Given the description of an element on the screen output the (x, y) to click on. 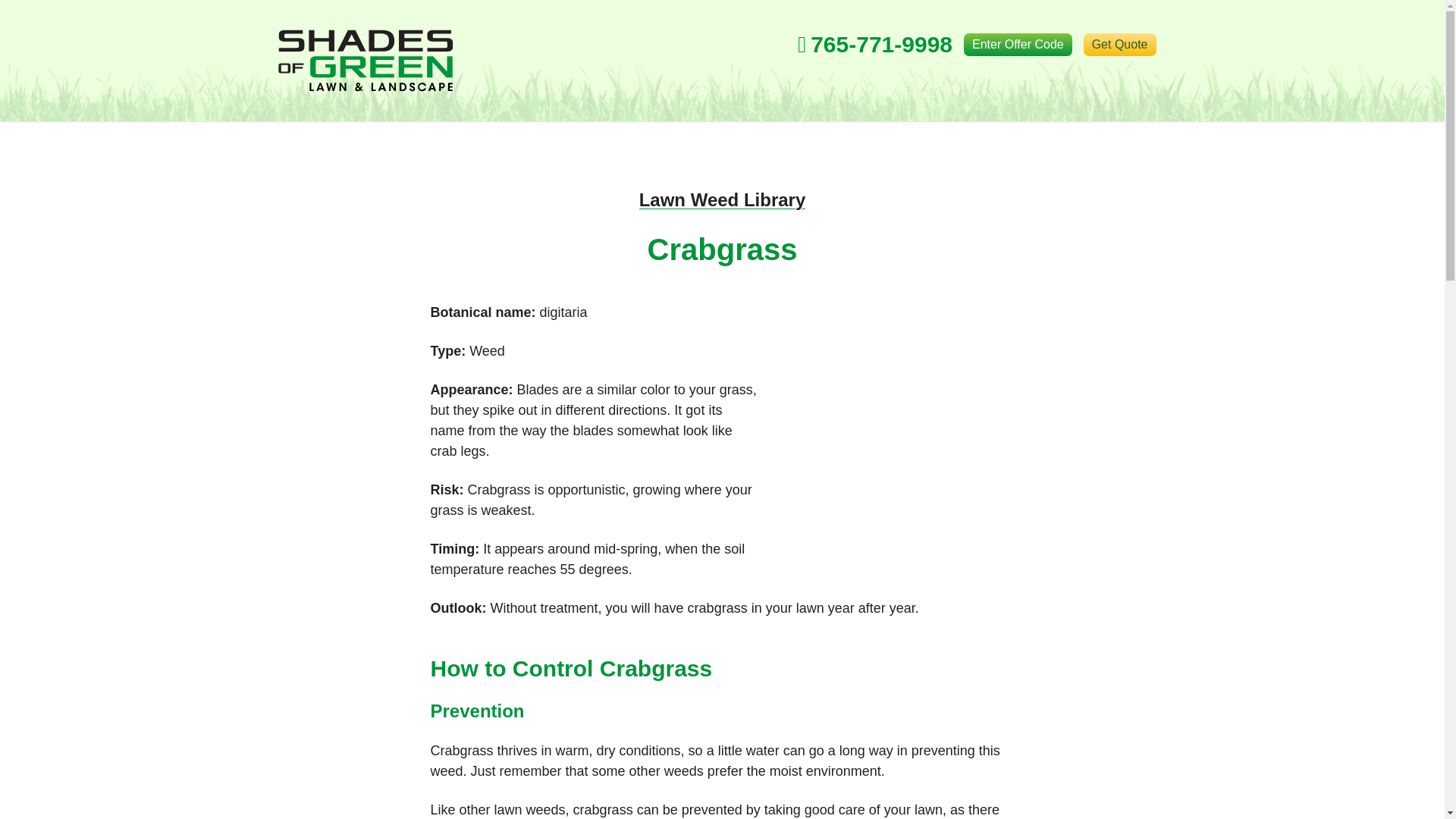
765-771-9998 (874, 44)
Get Quote (1119, 44)
Enter Offer Code (1017, 44)
Lawn Weed Library (722, 199)
